Given the description of an element on the screen output the (x, y) to click on. 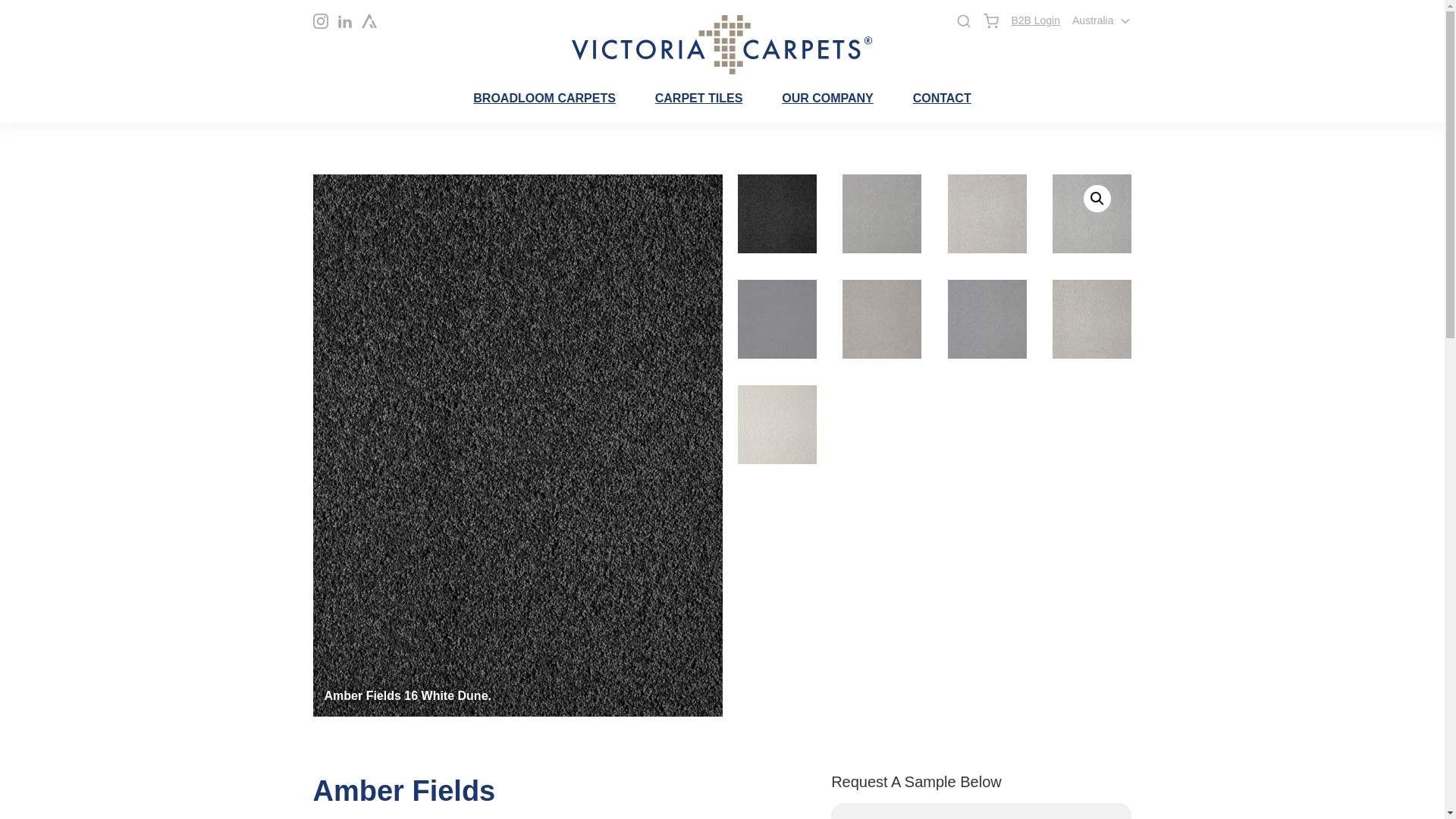
CONTACT (941, 98)
OUR COMPANY (827, 98)
CARPET TILES (698, 98)
BROADLOOM CARPETS (544, 98)
B2B Login (1034, 21)
